Given the description of an element on the screen output the (x, y) to click on. 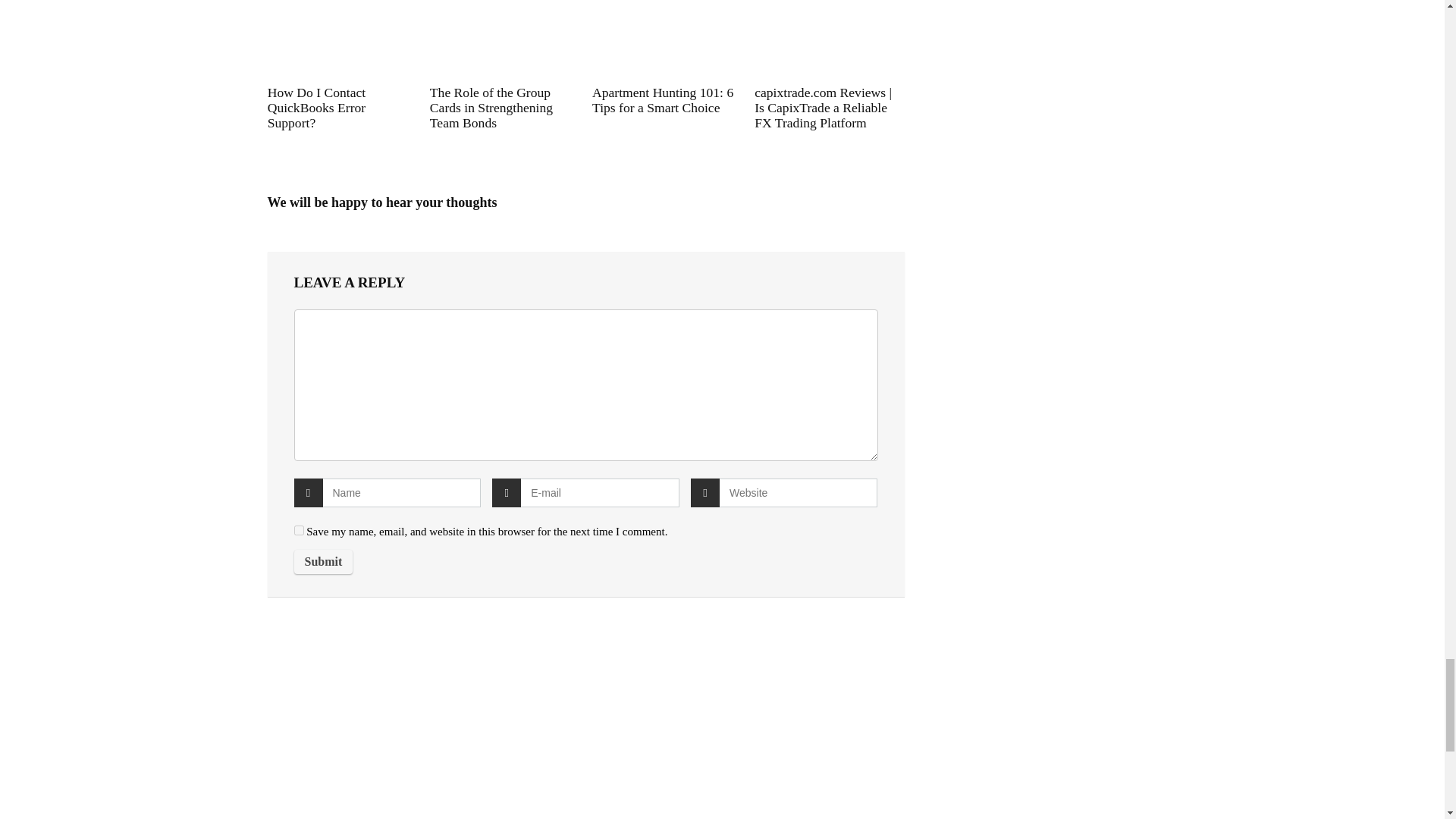
yes (299, 530)
Submit (323, 561)
